Given the description of an element on the screen output the (x, y) to click on. 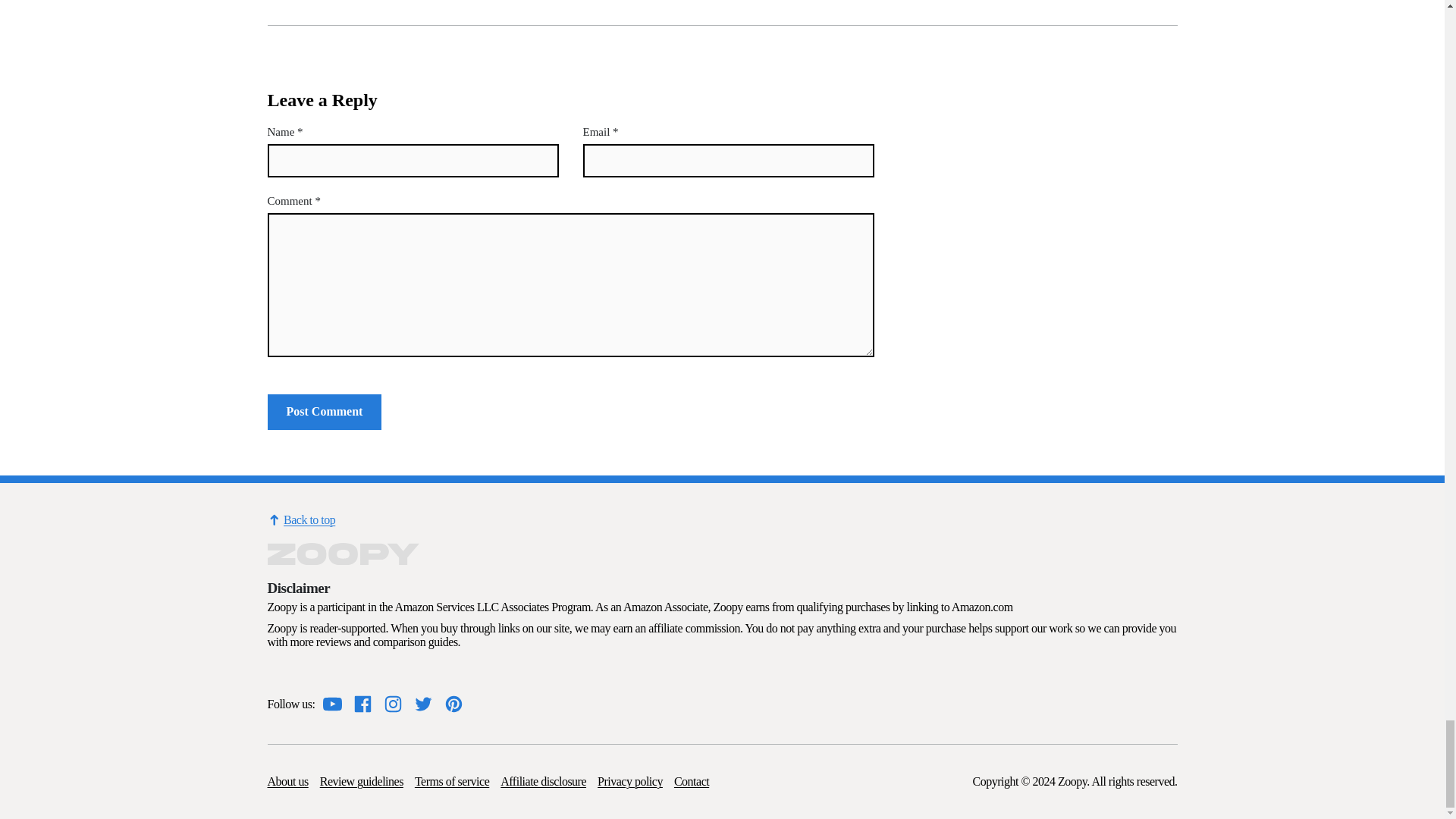
Privacy policy (629, 781)
Review guidelines (361, 781)
About us (286, 781)
Terms of service (451, 781)
Contact (691, 781)
Post Comment (323, 411)
Post Comment (323, 411)
Affiliate disclosure (543, 781)
DMCA.com Protection Status (304, 675)
